Given the description of an element on the screen output the (x, y) to click on. 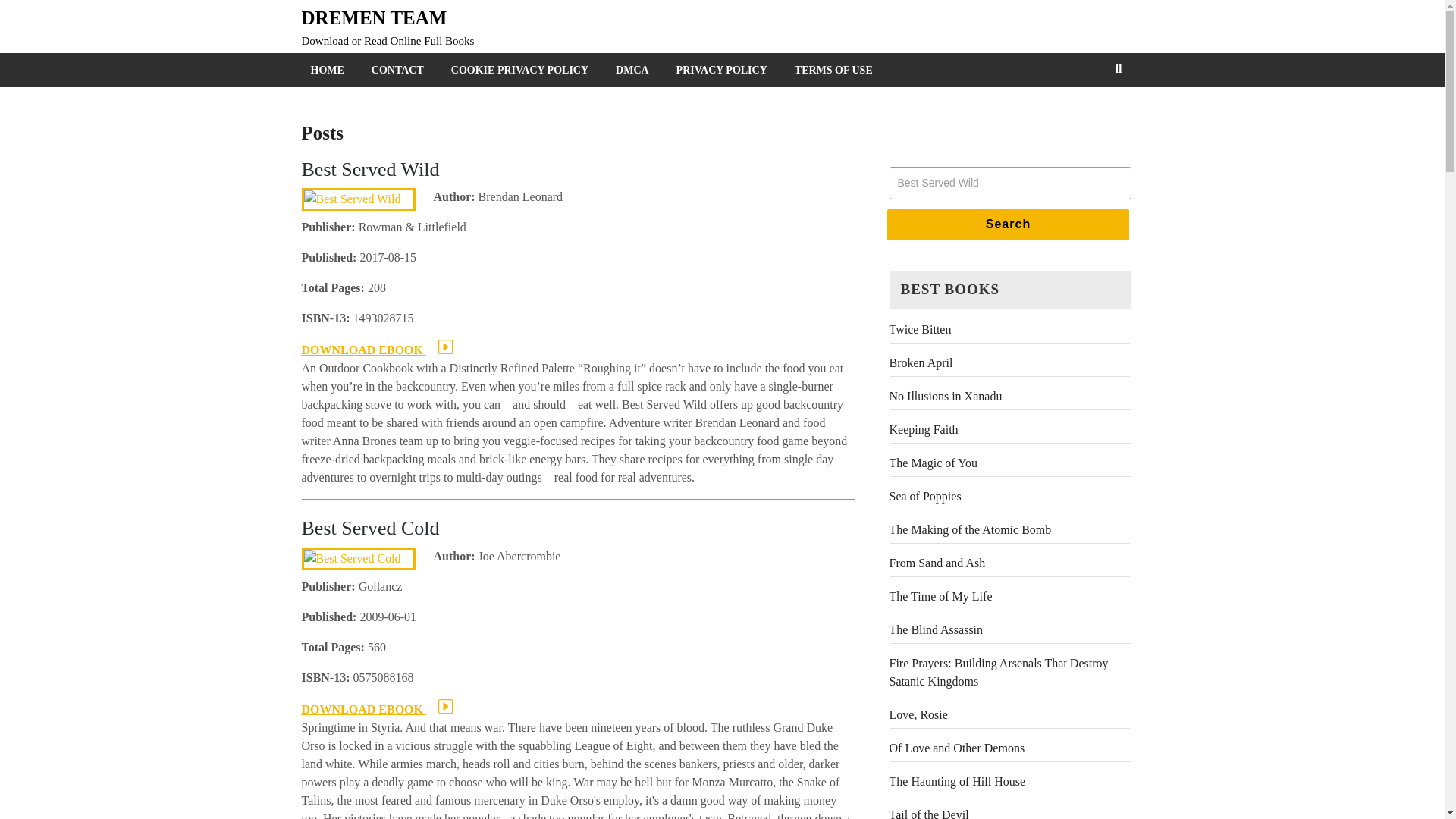
Broken April (920, 362)
Best Served Wild (1009, 183)
DREMEN TEAM (373, 17)
CONTACT (400, 69)
DMCA (635, 69)
The Magic of You (932, 462)
HOME (330, 69)
PRIVACY POLICY (724, 69)
DOWNLOAD EBOOK (376, 349)
Search (1007, 224)
DOWNLOAD EBOOK (376, 708)
COOKIE PRIVACY POLICY (523, 69)
Best Served Wild (1009, 183)
Sea of Poppies (924, 495)
Twice Bitten (919, 328)
